Given the description of an element on the screen output the (x, y) to click on. 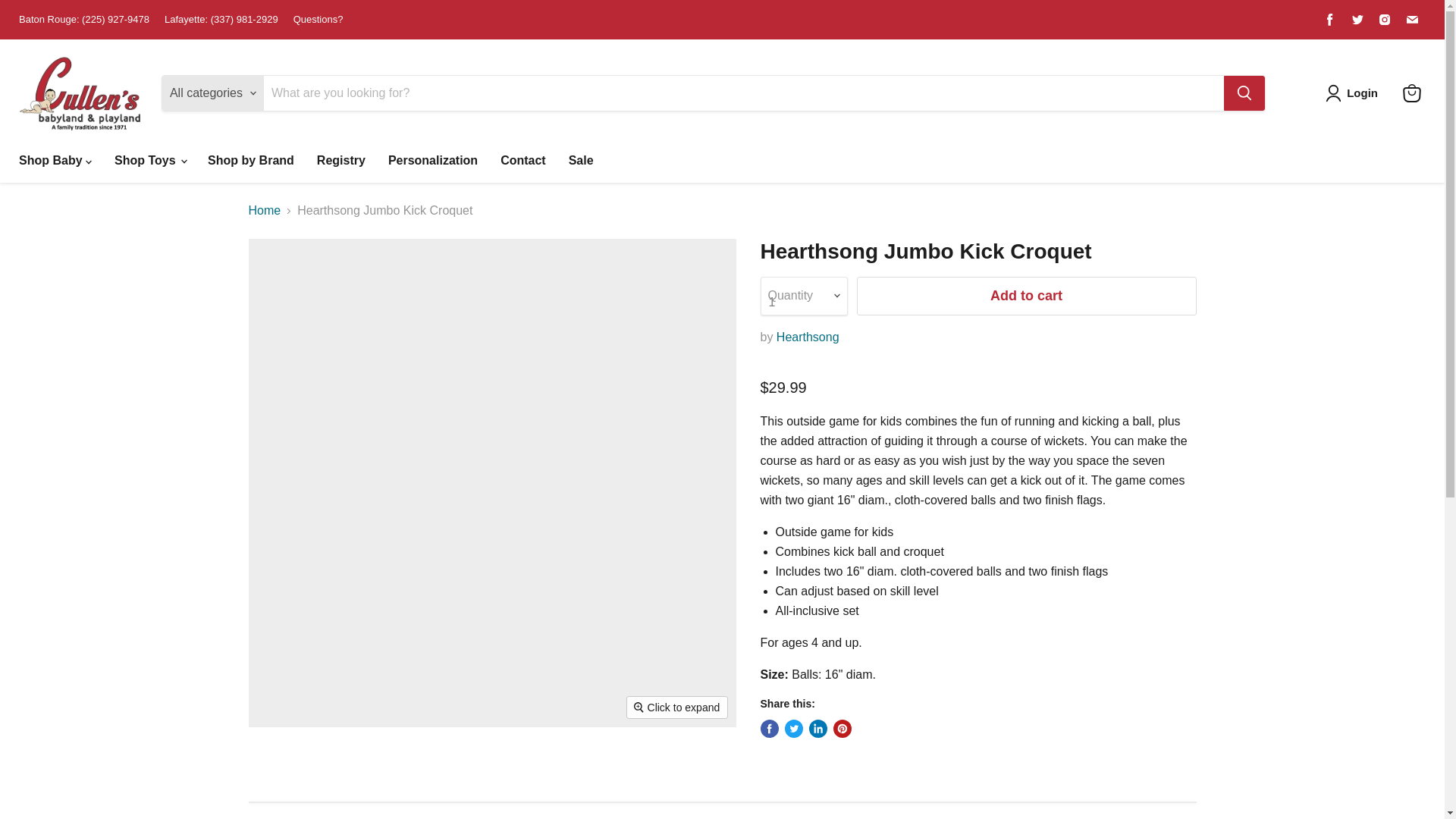
Twitter (1357, 19)
Facebook (1329, 19)
Questions? (318, 19)
Find us on Instagram (1384, 19)
Find us on Facebook (1329, 19)
Login (1362, 93)
Find us on Twitter (1357, 19)
Hearthsong (808, 336)
View cart (1411, 92)
Find us on Email (1411, 19)
